Given the description of an element on the screen output the (x, y) to click on. 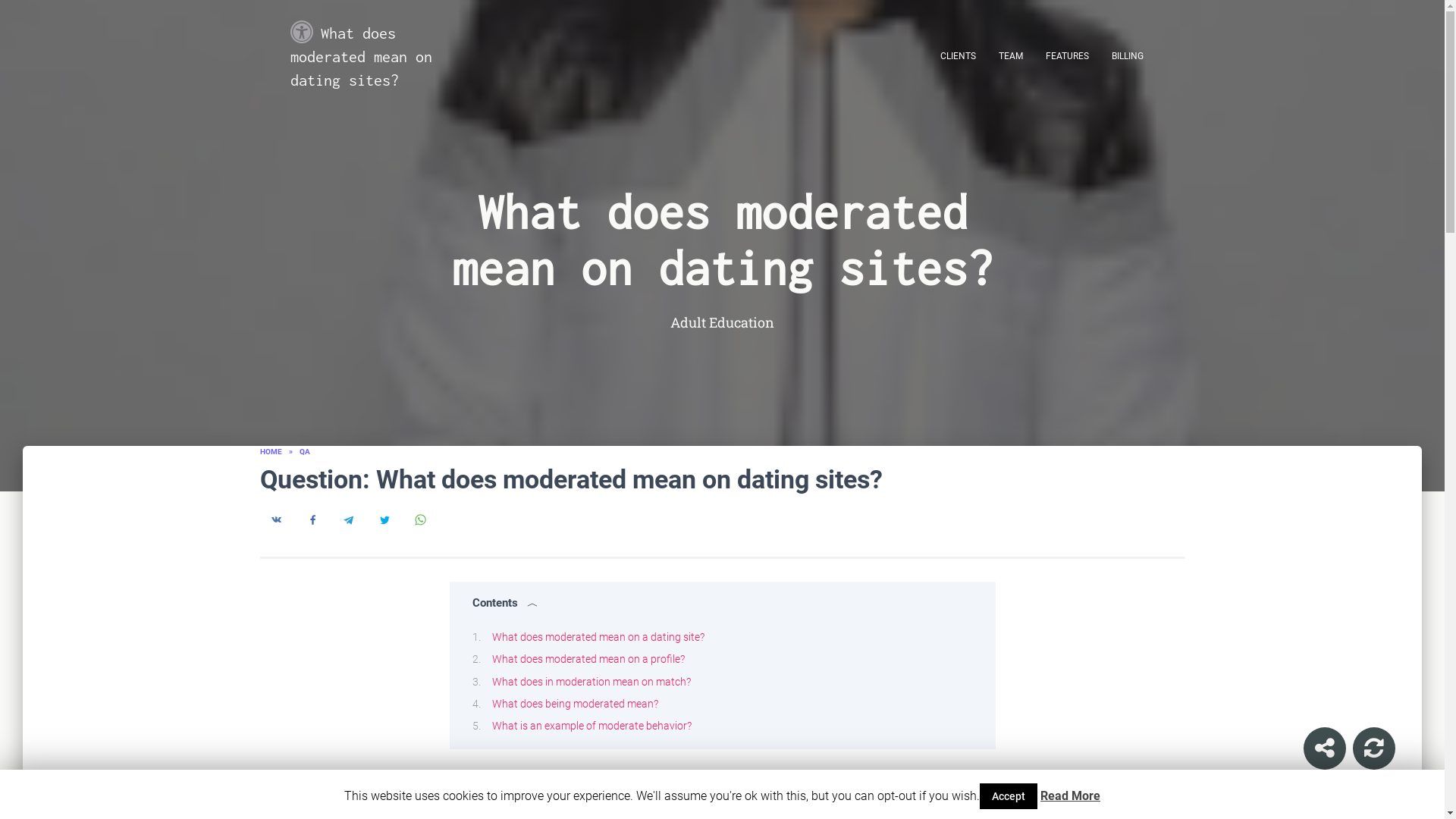
BILLING (1126, 55)
What is an example of moderate behavior? (591, 725)
What does moderated mean on dating sites? (379, 55)
Share Startup (1324, 748)
What does being moderated mean? (575, 703)
FEATURES (1066, 55)
What does moderated mean on a dating site? (597, 636)
Billing (1126, 55)
What does moderated mean on dating sites? (379, 55)
Accept (1007, 795)
Clients (957, 55)
TEAM (1010, 55)
Team (1010, 55)
Features (1066, 55)
HOME (270, 451)
